Given the description of an element on the screen output the (x, y) to click on. 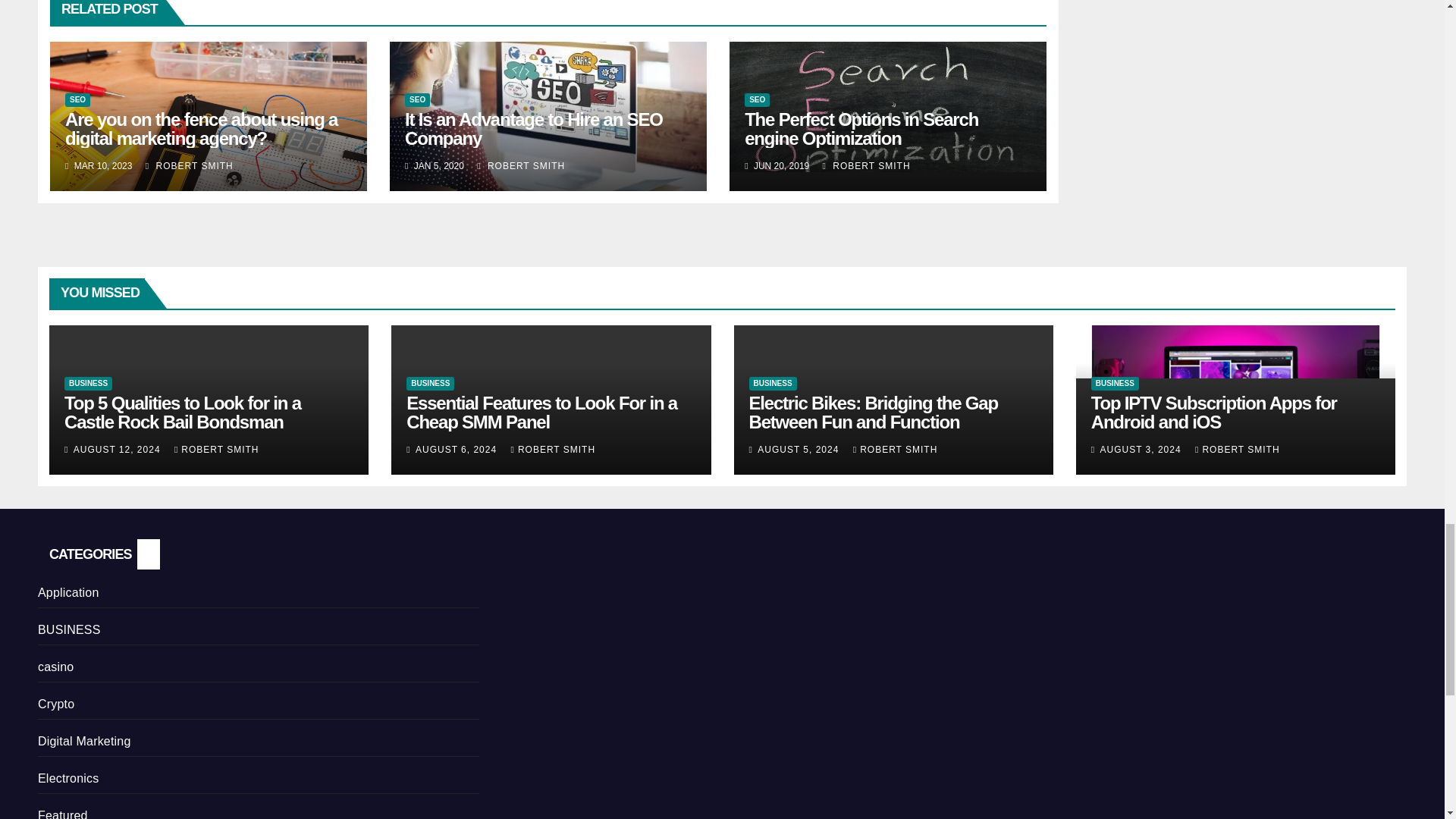
SEO (416, 100)
ROBERT SMITH (188, 165)
Are you on the fence about using a digital marketing agency? (201, 128)
ROBERT SMITH (866, 165)
Permalink to: It Is an Advantage to Hire an SEO Company (533, 128)
ROBERT SMITH (520, 165)
SEO (77, 100)
Permalink to: Top IPTV Subscription Apps for Android and iOS (1213, 412)
